Given the description of an element on the screen output the (x, y) to click on. 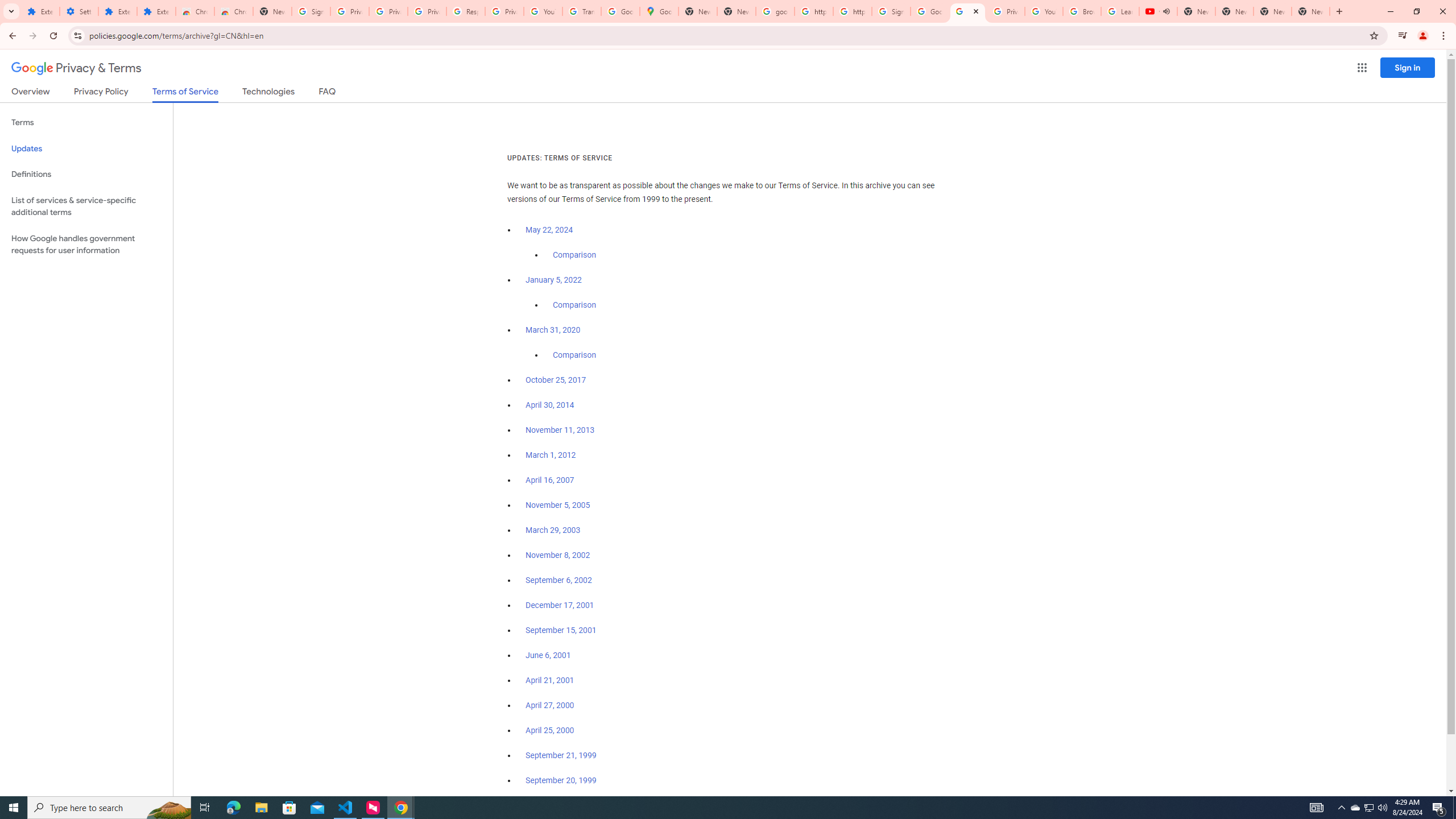
Terms of Service (184, 94)
New Tab (1311, 11)
Terms (86, 122)
How Google handles government requests for user information (86, 244)
YouTube (1043, 11)
November 5, 2005 (557, 505)
March 29, 2003 (552, 530)
